Given the description of an element on the screen output the (x, y) to click on. 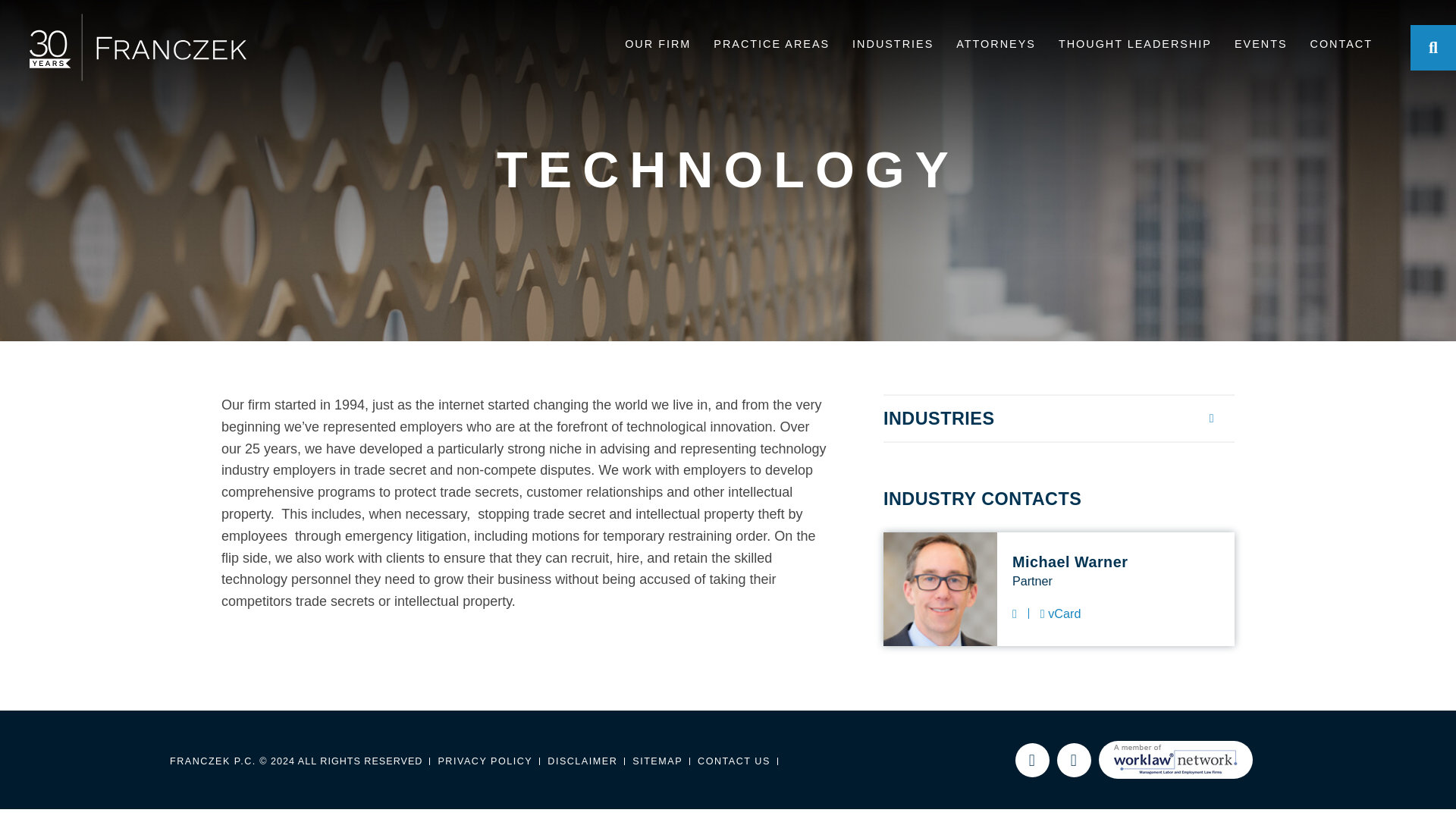
ATTORNEYS (995, 46)
INDUSTRIES (892, 46)
THOUGHT LEADERSHIP (1134, 46)
CONTACT (1341, 46)
EVENTS (1260, 46)
PRACTICE AREAS (771, 46)
OUR FIRM (657, 46)
